Given the description of an element on the screen output the (x, y) to click on. 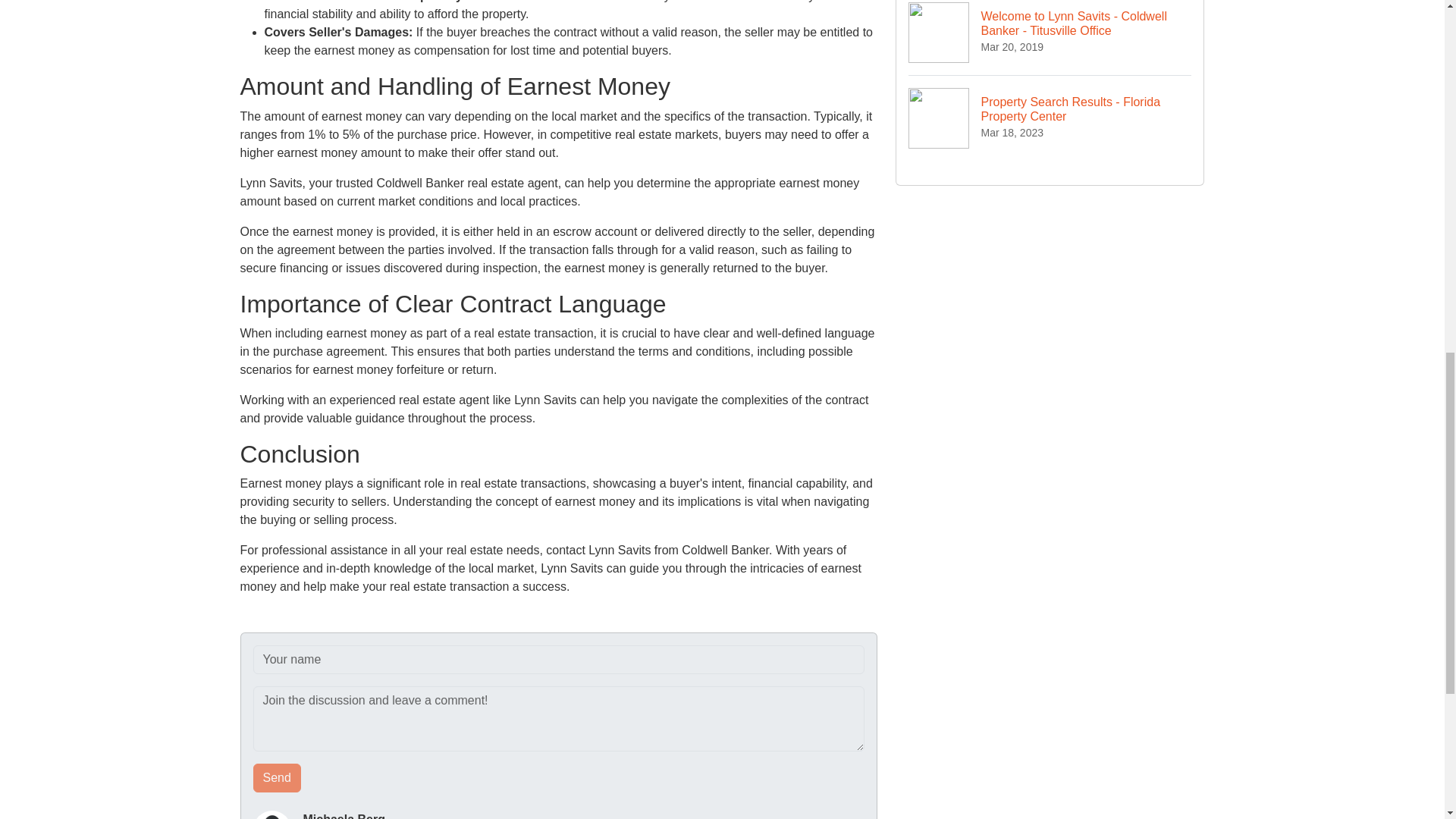
Send (277, 777)
Send (277, 777)
